Given the description of an element on the screen output the (x, y) to click on. 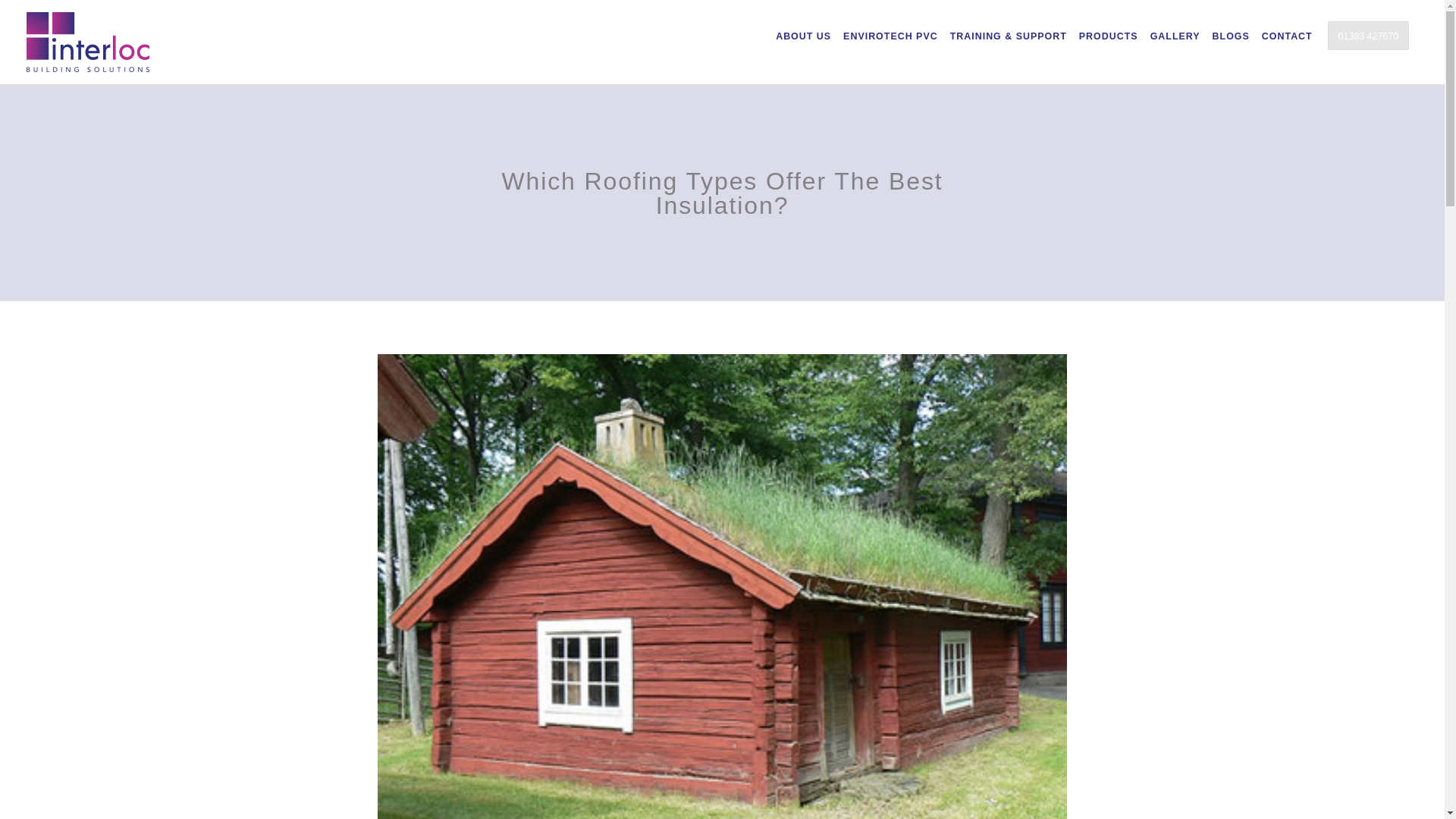
GALLERY (1175, 37)
ABOUT US (803, 37)
PRODUCTS (1108, 37)
BLOGS (1231, 37)
ENVIROTECH PVC (890, 37)
01383 427670 (1367, 35)
CONTACT (1287, 37)
